Given the description of an element on the screen output the (x, y) to click on. 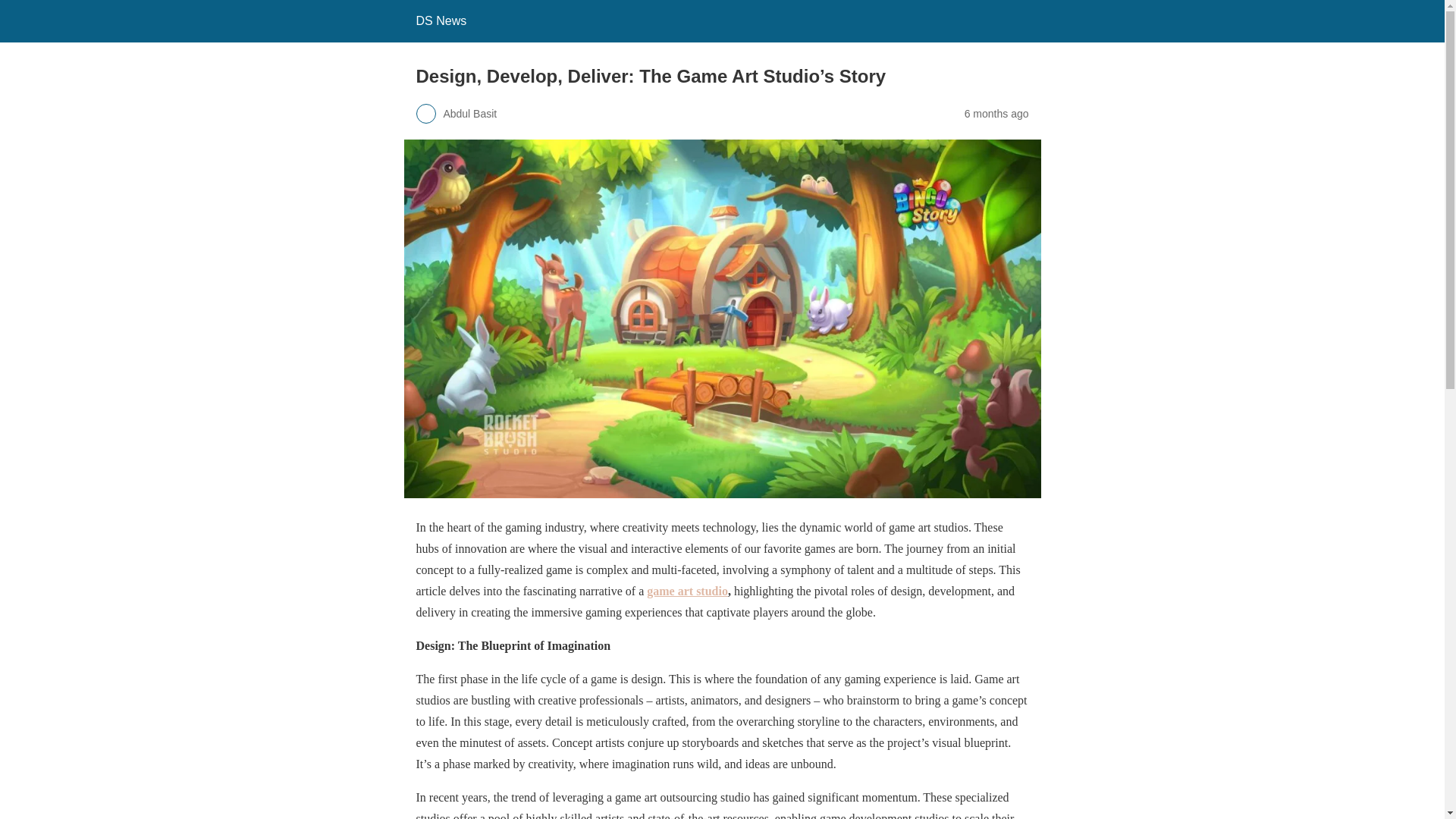
game art studio (687, 590)
DS News (439, 20)
